Given the description of an element on the screen output the (x, y) to click on. 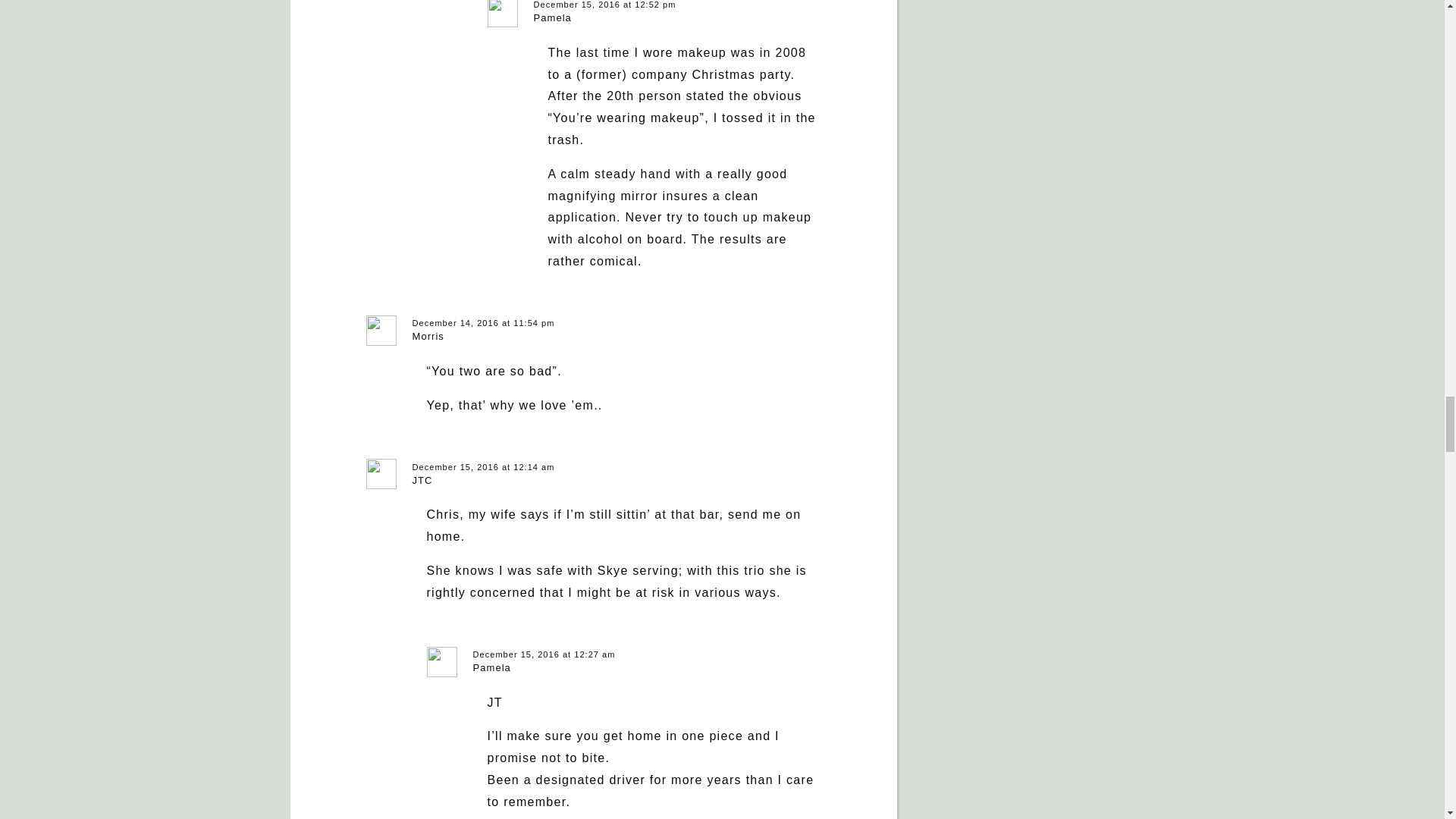
JTC (422, 480)
